Given the description of an element on the screen output the (x, y) to click on. 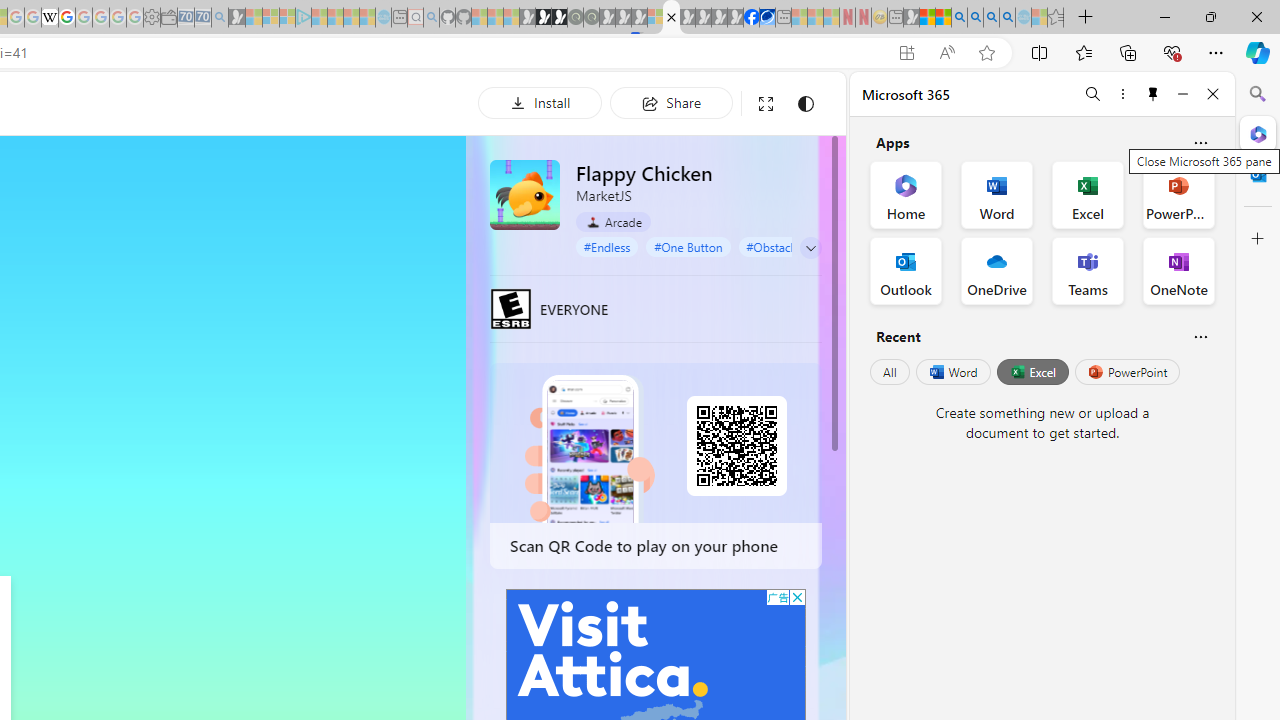
Full screen (765, 103)
Outlook Office App (906, 270)
Settings - Sleeping (151, 17)
Future Focus Report 2024 - Sleeping (591, 17)
Class: control (811, 248)
Google Chrome Internet Browser Download - Search Images (1007, 17)
Sign in to your account - Sleeping (655, 17)
